Given the description of an element on the screen output the (x, y) to click on. 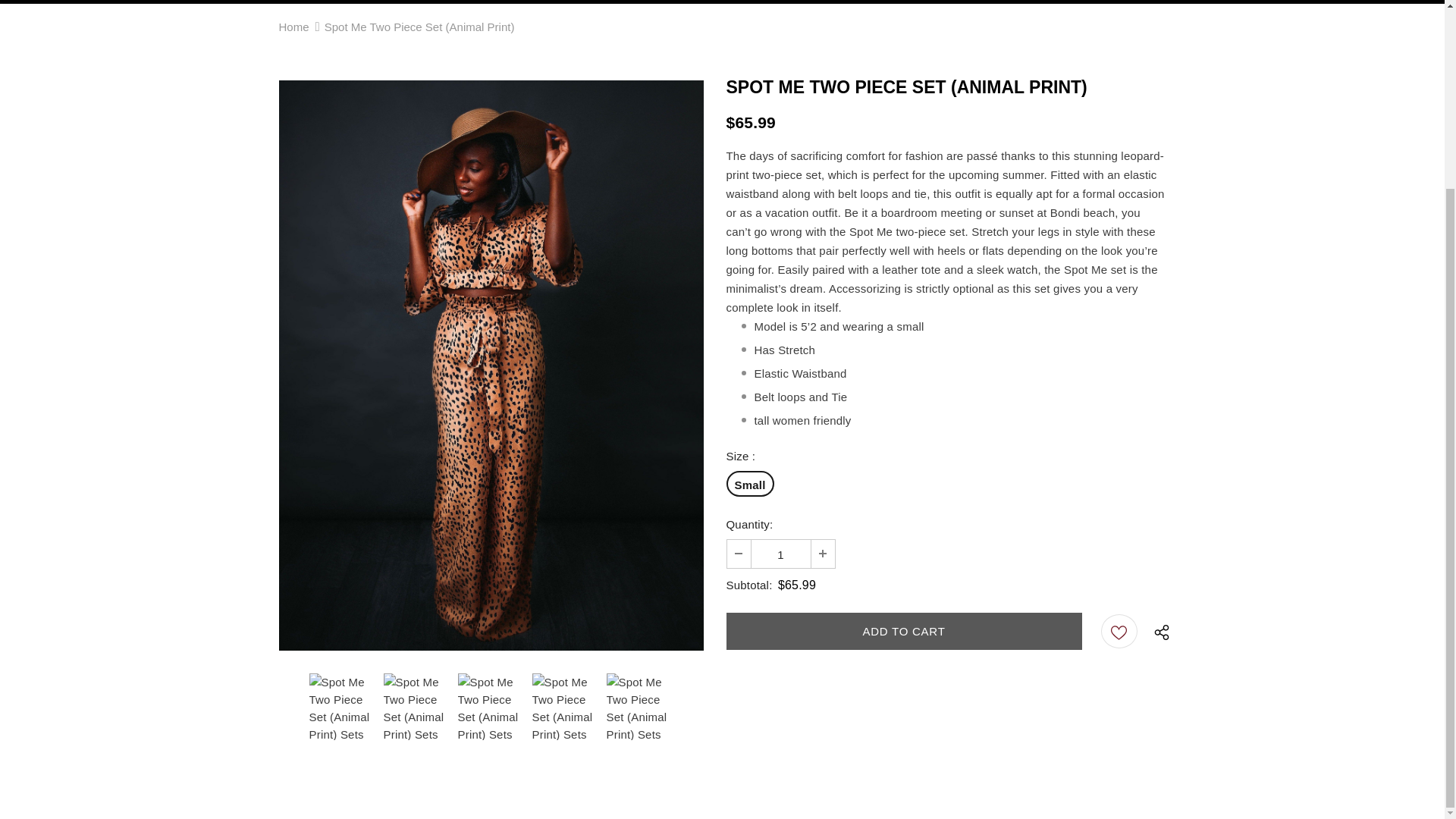
Page 1 (946, 287)
Add to cart (903, 631)
Home (293, 26)
DRESSES (721, 2)
1 (780, 553)
